Given the description of an element on the screen output the (x, y) to click on. 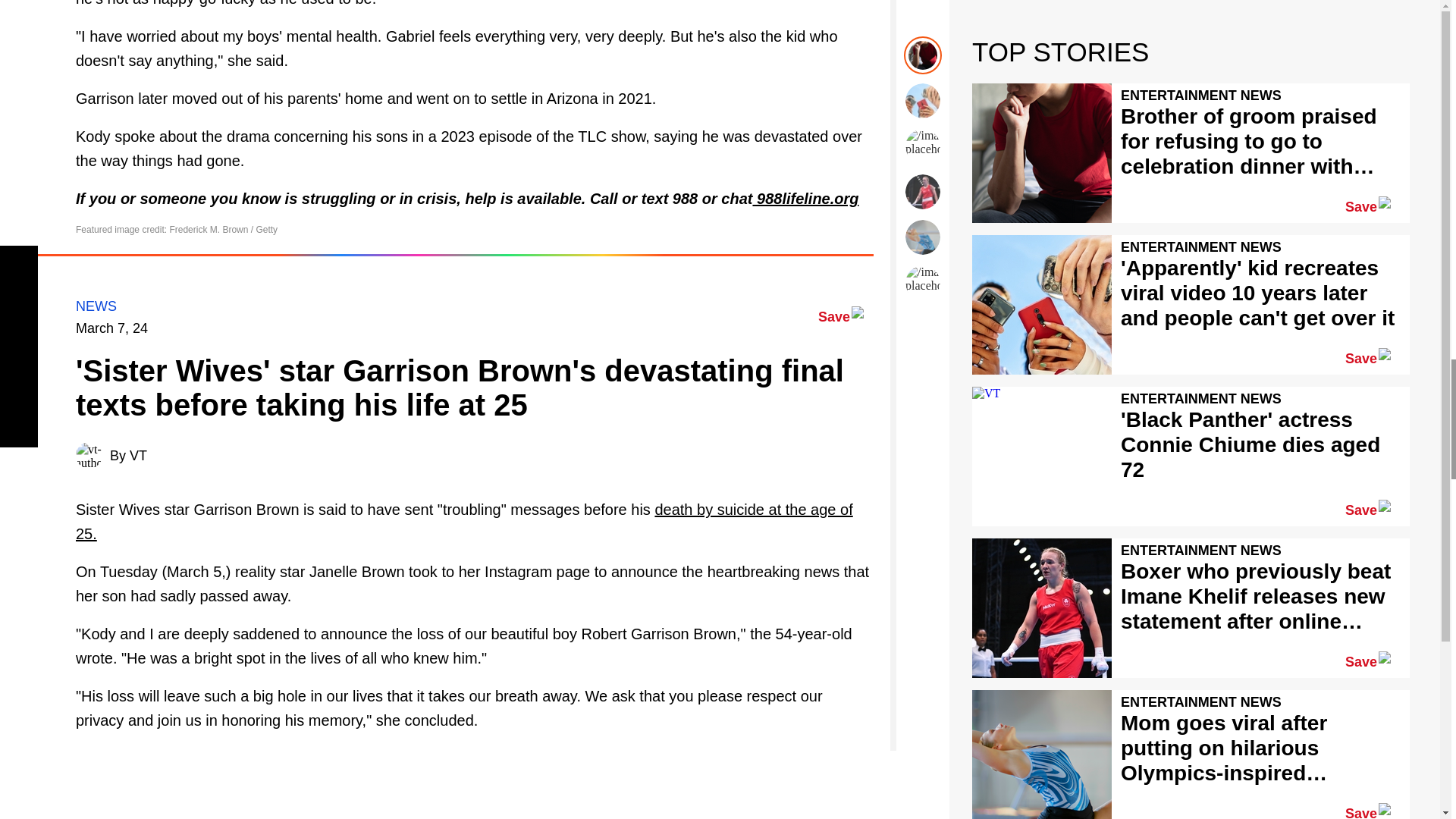
NEWS (95, 305)
death by suicide at the age of 25. (464, 521)
988lifeline.org (805, 198)
